Given the description of an element on the screen output the (x, y) to click on. 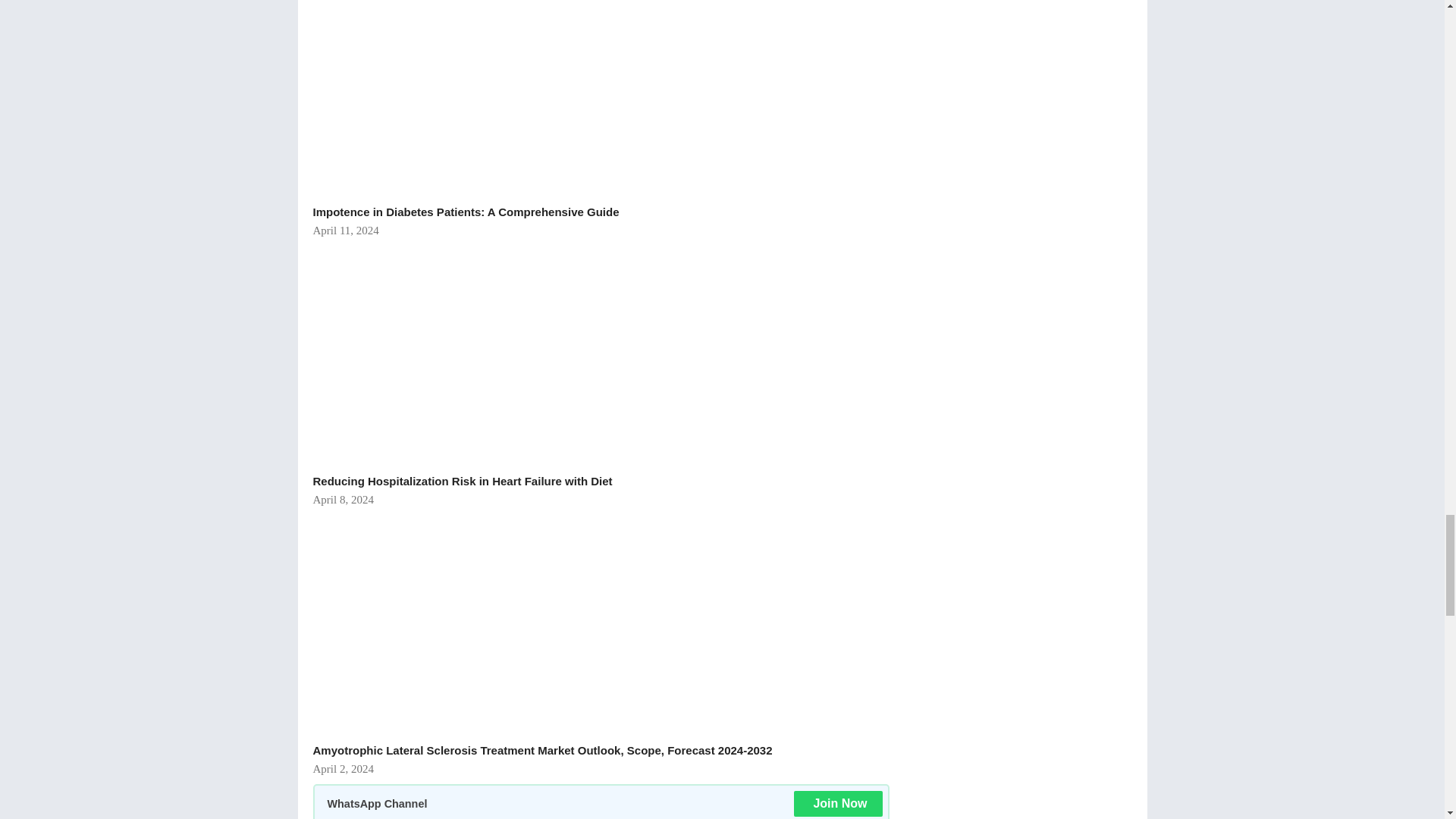
Reducing Hospitalization Risk in Heart Failure with Diet (495, 352)
Impotence in Diabetes  Patients: A Comprehensive Guide (495, 99)
